Given the description of an element on the screen output the (x, y) to click on. 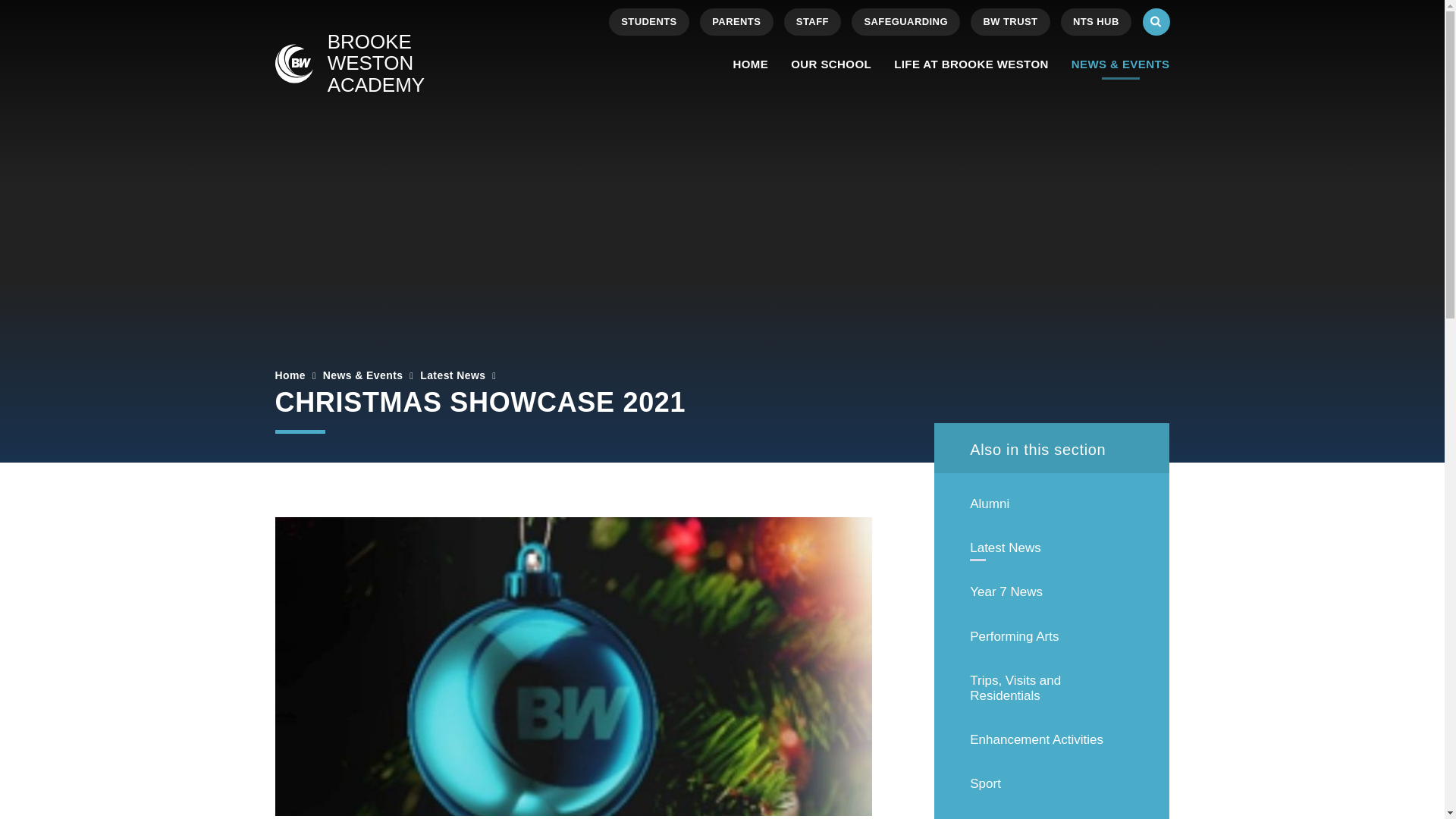
BROOKE WESTON ACADEMY (385, 63)
OUR SCHOOL (830, 64)
HOME (751, 64)
